Given the description of an element on the screen output the (x, y) to click on. 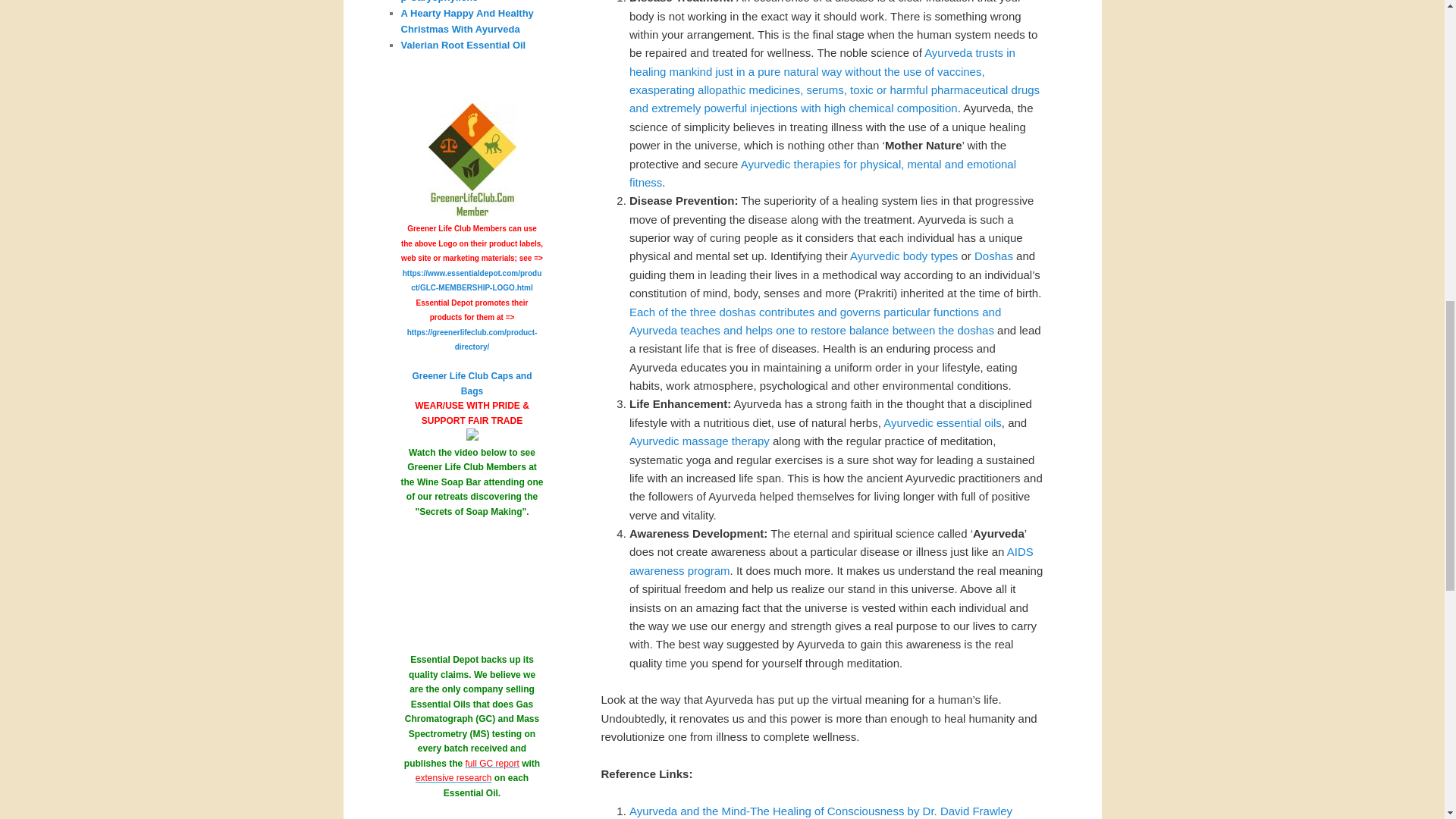
AIDS awareness program (830, 560)
Ayurvedic essential oils (942, 422)
Doshas (993, 255)
Ayurvedic massage therapy (699, 440)
Ayurvedic body types (904, 255)
